Given the description of an element on the screen output the (x, y) to click on. 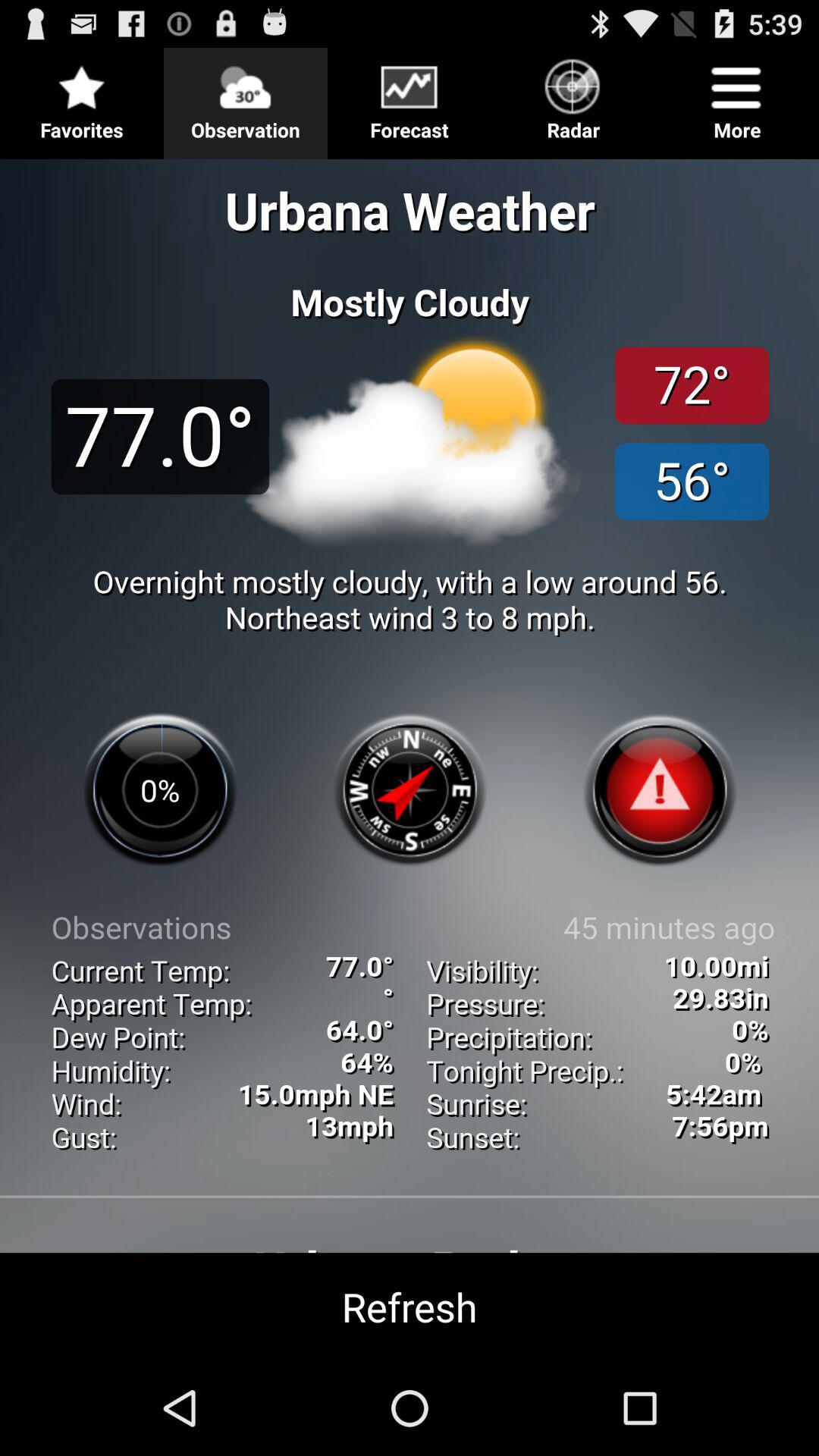
weather forecast (409, 753)
